Given the description of an element on the screen output the (x, y) to click on. 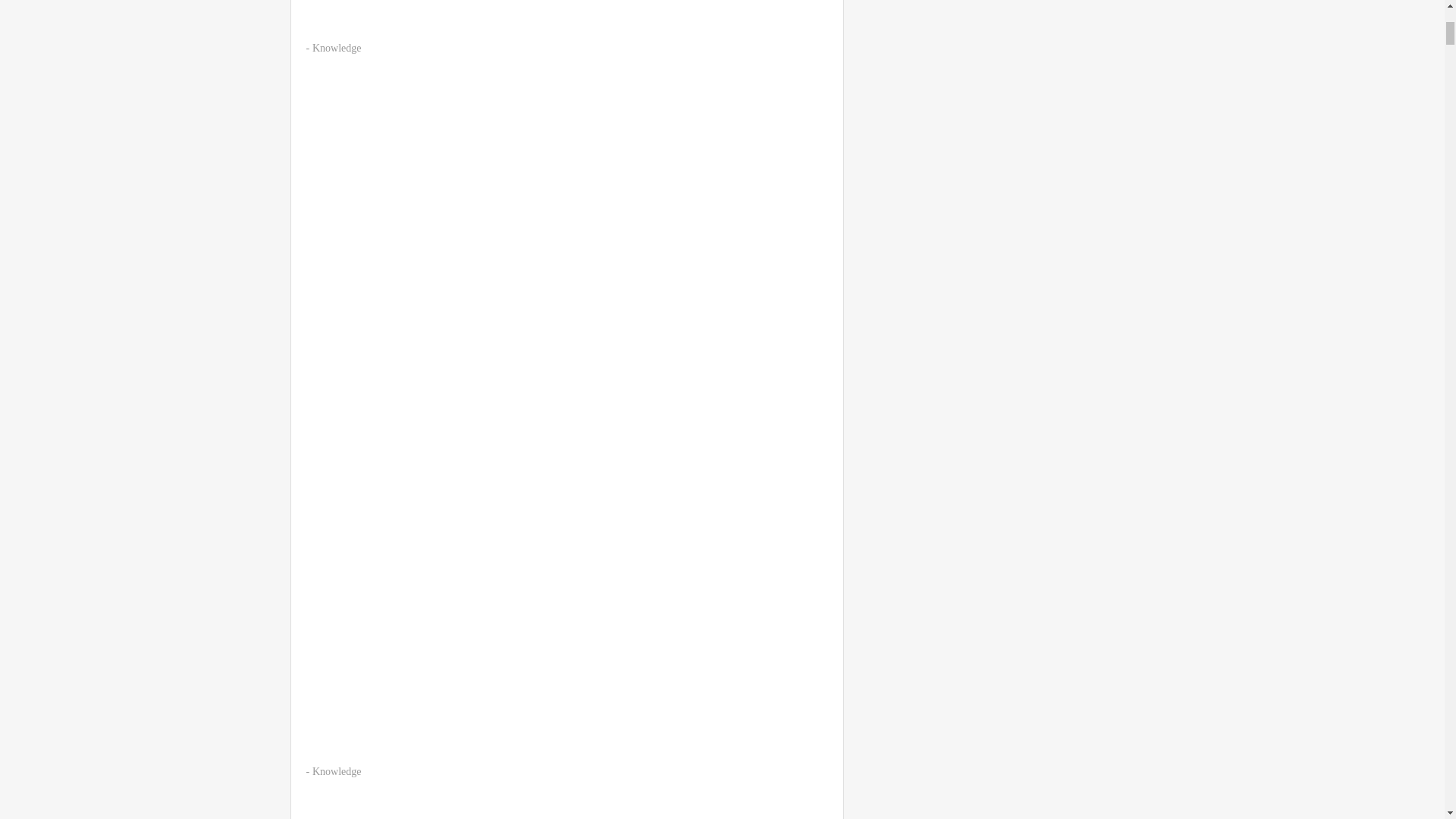
Knowledge (337, 771)
Knowledge (337, 48)
